Given the description of an element on the screen output the (x, y) to click on. 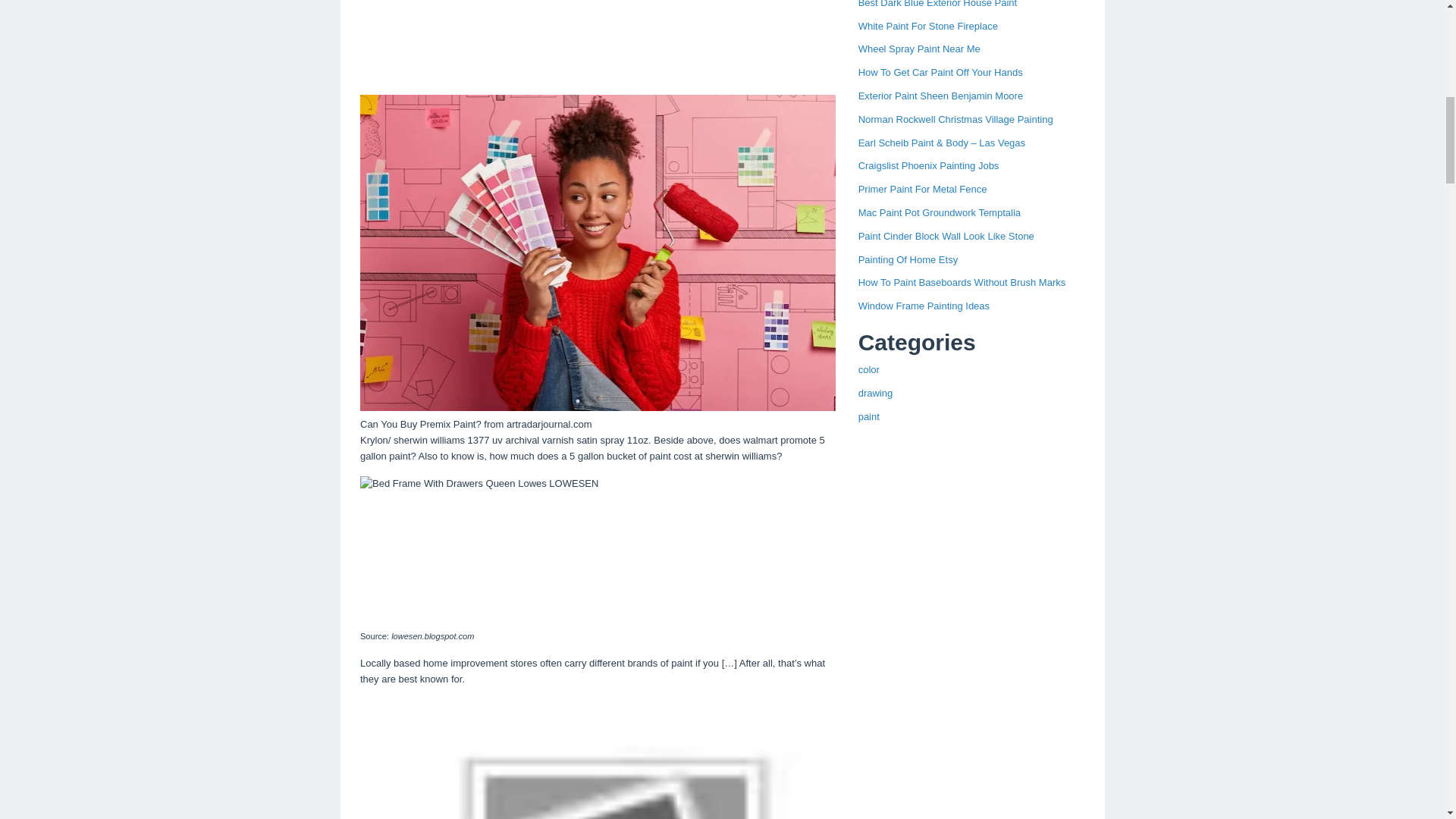
Craigslist Phoenix Painting Jobs (928, 165)
White Paint For Stone Fireplace (928, 25)
Mac Paint Pot Groundwork Temptalia (939, 212)
How To Get Car Paint Off Your Hands (941, 71)
Wheel Spray Paint Near Me (919, 48)
Primer Paint For Metal Fence (923, 188)
Exterior Paint Sheen Benjamin Moore (941, 95)
Norman Rockwell Christmas Village Painting (955, 119)
Best Dark Blue Exterior House Paint (938, 4)
